Given the description of an element on the screen output the (x, y) to click on. 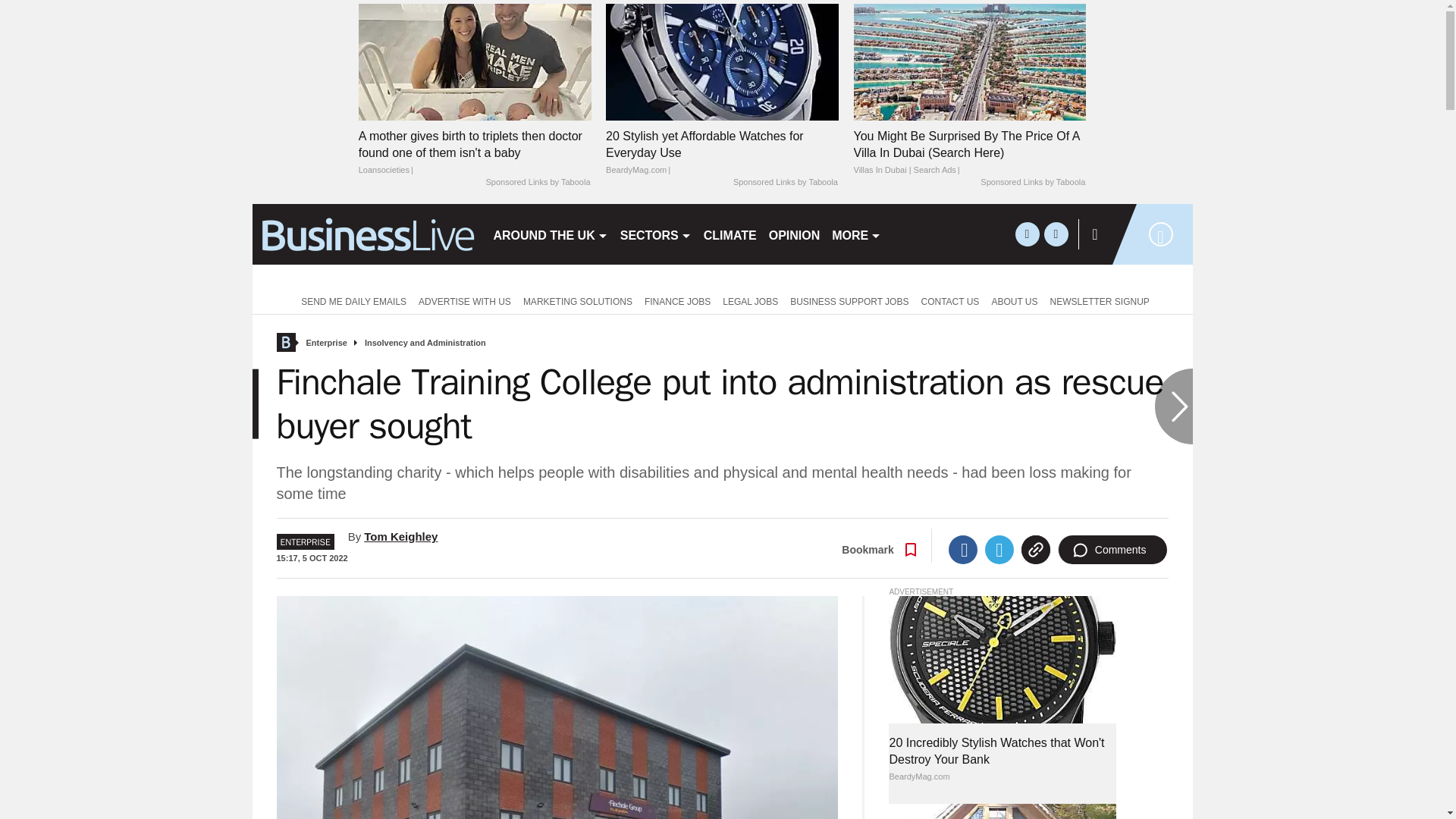
Sponsored Links by Taboola (536, 182)
SECTORS (655, 233)
Sponsored Links by Taboola (1031, 182)
20 Stylish yet Affordable Watches for Everyday Use (721, 61)
Facebook (962, 549)
Twitter (999, 549)
AROUND THE UK (549, 233)
twitter (1026, 233)
birminghampost (365, 233)
linkedin (1055, 233)
Comments (1112, 549)
20 Stylish yet Affordable Watches for Everyday Use (721, 152)
Sponsored Links by Taboola (785, 182)
